Given the description of an element on the screen output the (x, y) to click on. 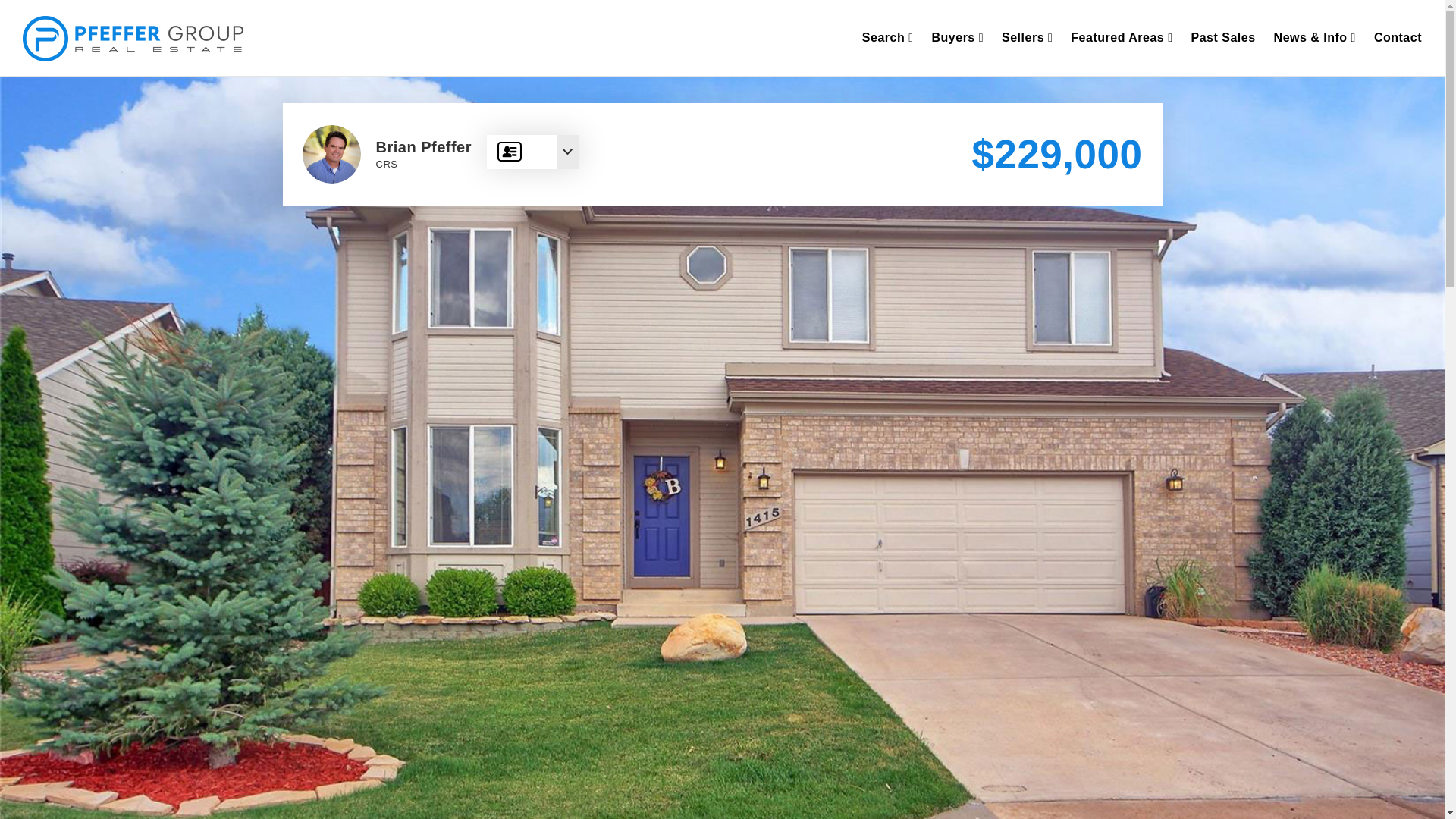
Buyers (956, 38)
Featured Areas (1120, 38)
Contact (1398, 38)
Sellers (1026, 38)
Search (888, 38)
Past Sales (1223, 38)
